Given the description of an element on the screen output the (x, y) to click on. 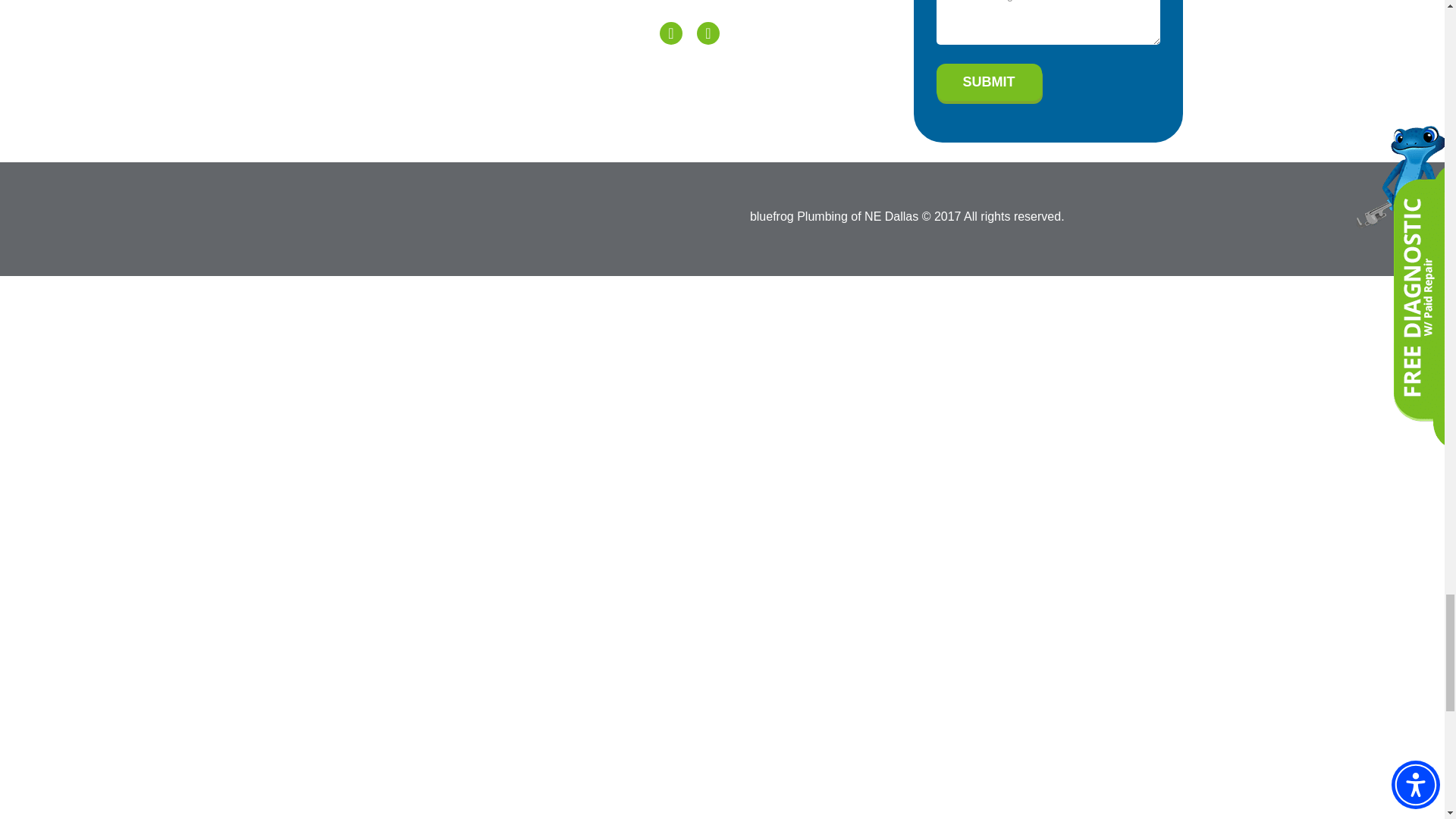
Submit (988, 81)
